Given the description of an element on the screen output the (x, y) to click on. 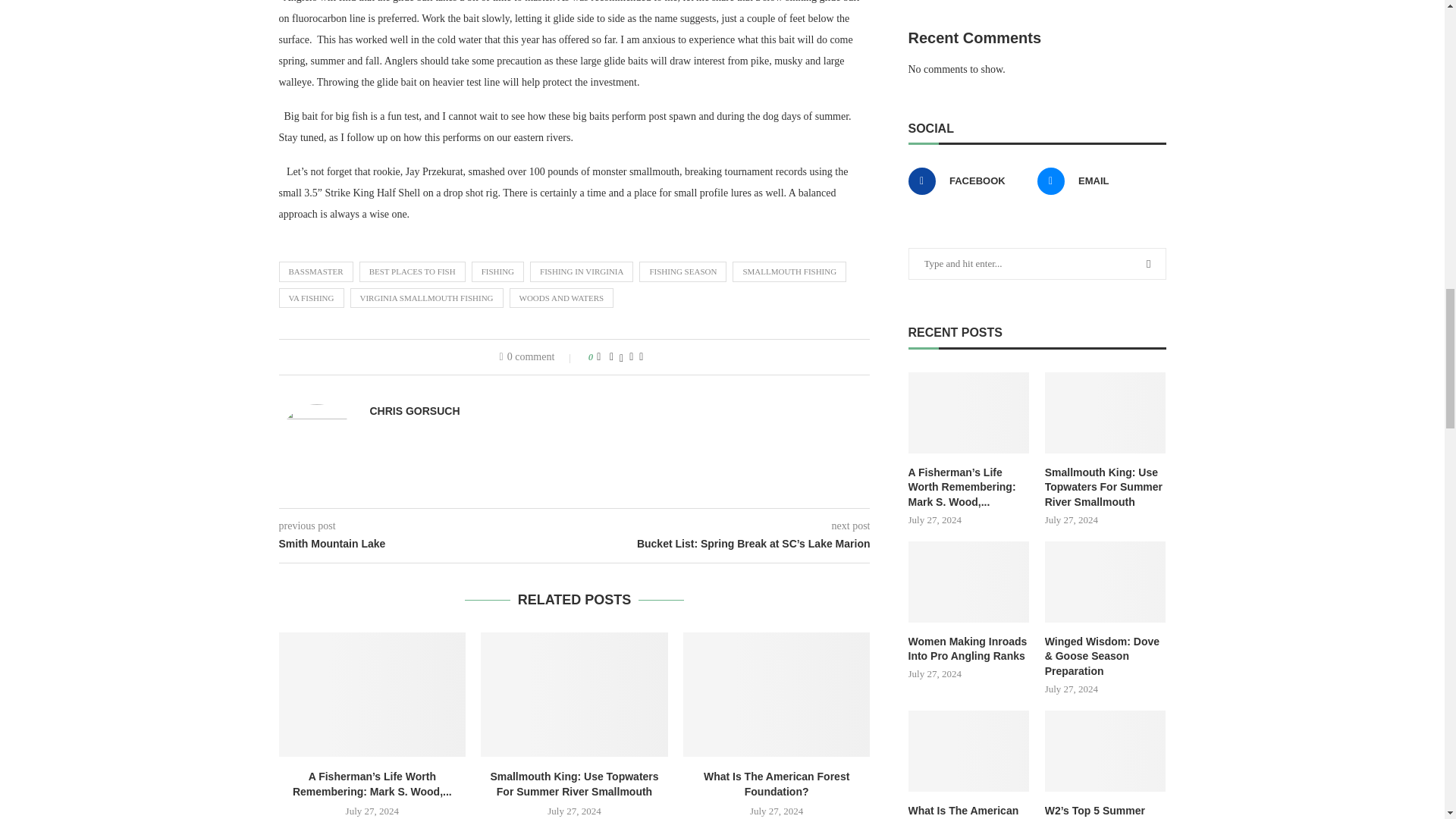
Author Chris Gorsuch (414, 411)
Women Making Inroads Into Pro Angling Ranks (968, 581)
What Is The American Forest Foundation? (776, 694)
Smallmouth King: Use Topwaters For Summer River Smallmouth (1105, 412)
Smallmouth King: Use Topwaters For Summer River Smallmouth (574, 694)
Smallmouth King: Use Topwaters For Summer River Smallmouth (1105, 488)
Women Making Inroads Into Pro Angling Ranks (968, 649)
